Given the description of an element on the screen output the (x, y) to click on. 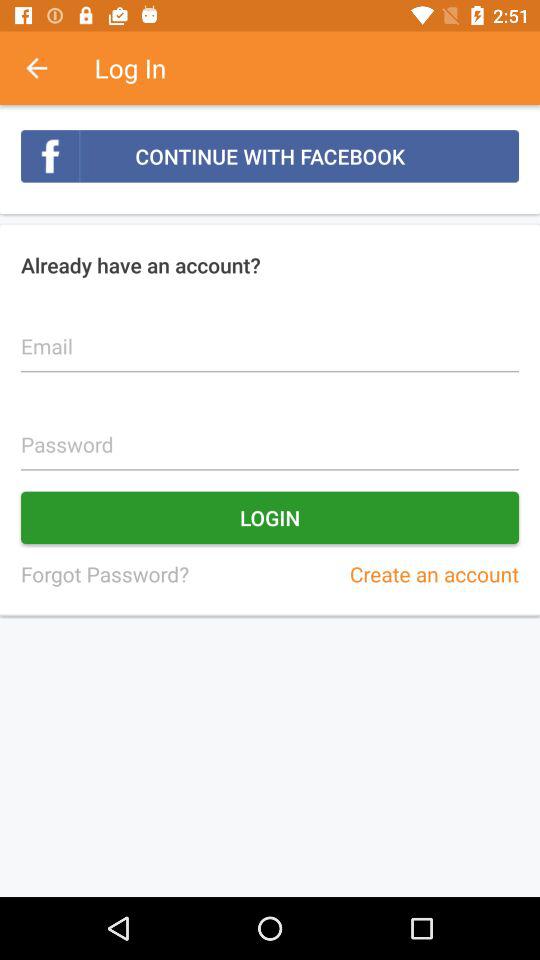
press the icon next to the create an account (104, 573)
